Given the description of an element on the screen output the (x, y) to click on. 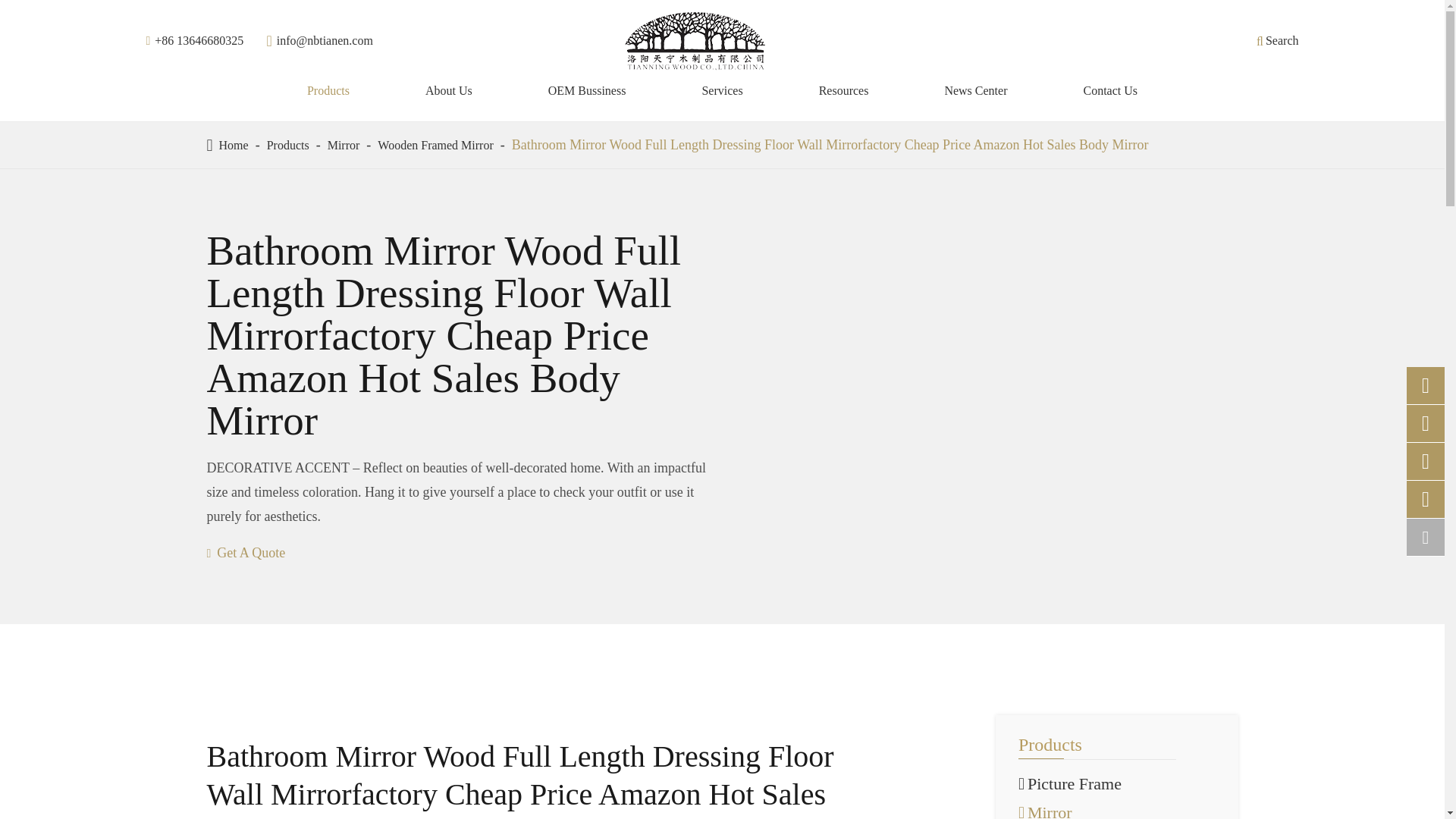
About Us (448, 90)
Wooden Framed Mirror (435, 144)
Products (287, 144)
Luoyang Tianning Wood Co., Ltd. (694, 41)
Products (328, 90)
Mirror (343, 144)
